Given the description of an element on the screen output the (x, y) to click on. 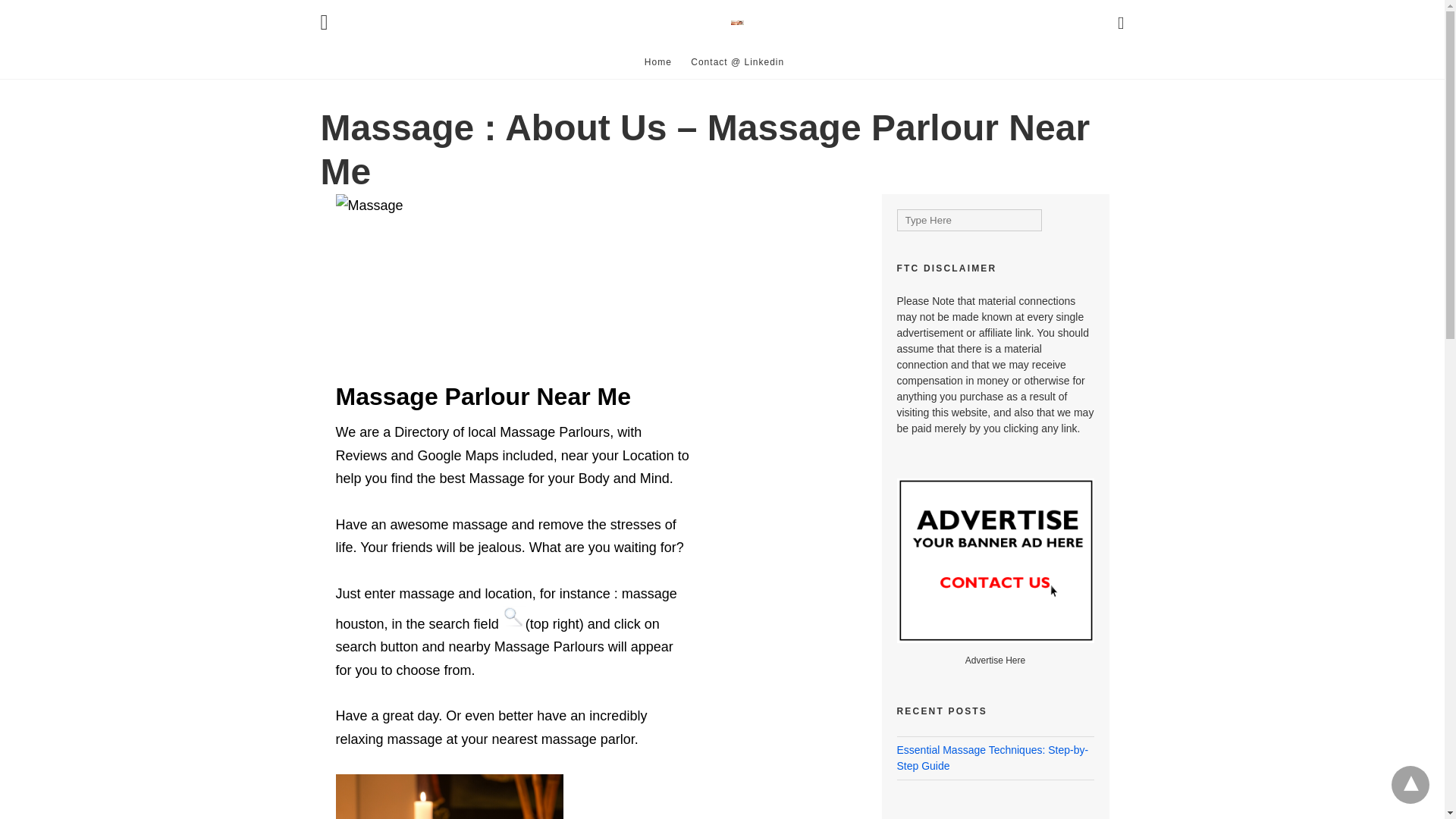
back to top (1410, 784)
Essential Massage Techniques: Step-by-Step Guide (991, 757)
Massage Parlour Near Me (737, 22)
